Given the description of an element on the screen output the (x, y) to click on. 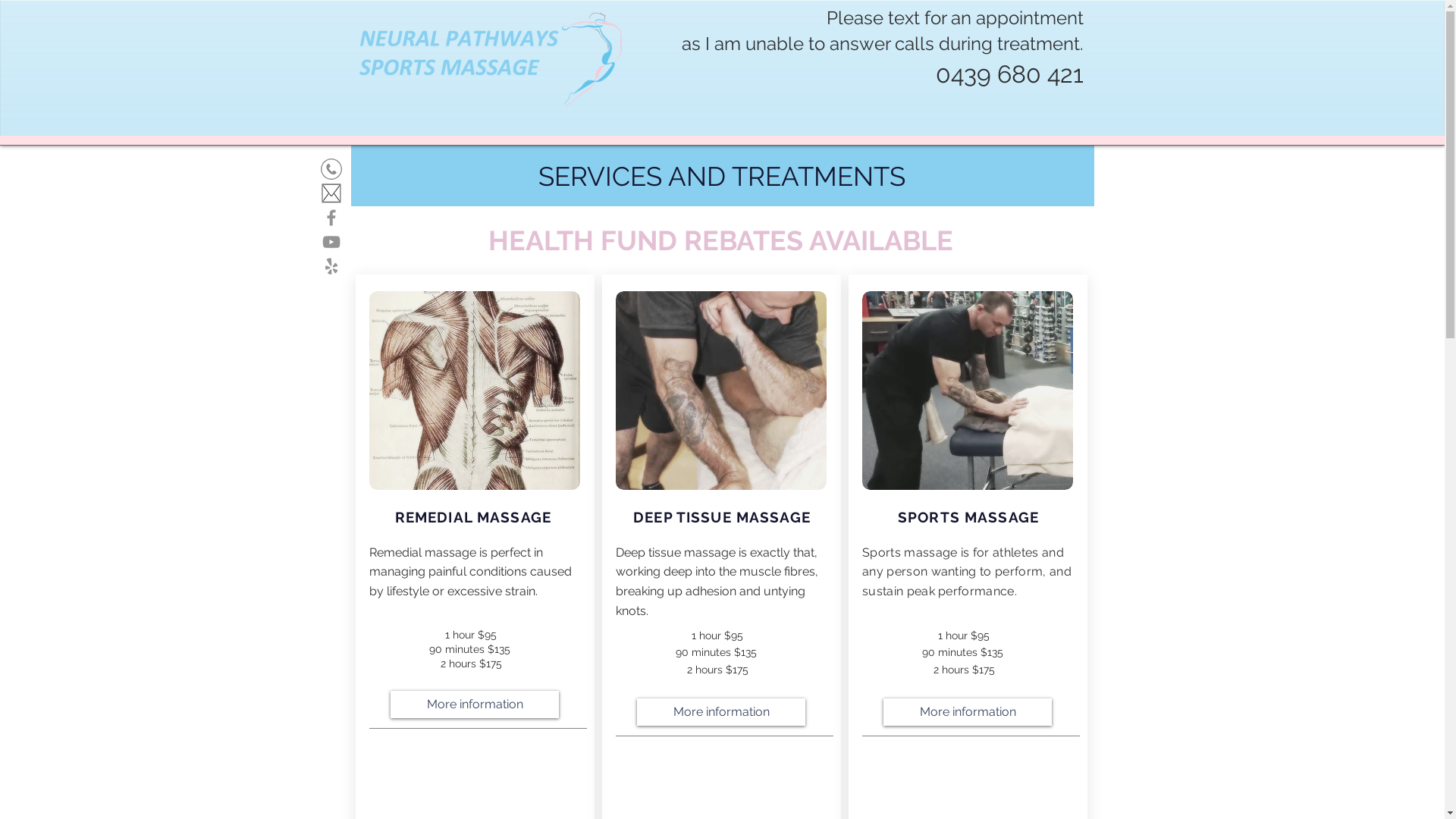
More information Element type: text (721, 711)
DEEP TISSUE MASSAGE Element type: text (721, 516)
SERVICES AND TREATMENTS Element type: text (721, 175)
More information Element type: text (474, 704)
REMEDIAL MASSAGE  Element type: text (475, 516)
More information Element type: text (967, 711)
